Given the description of an element on the screen output the (x, y) to click on. 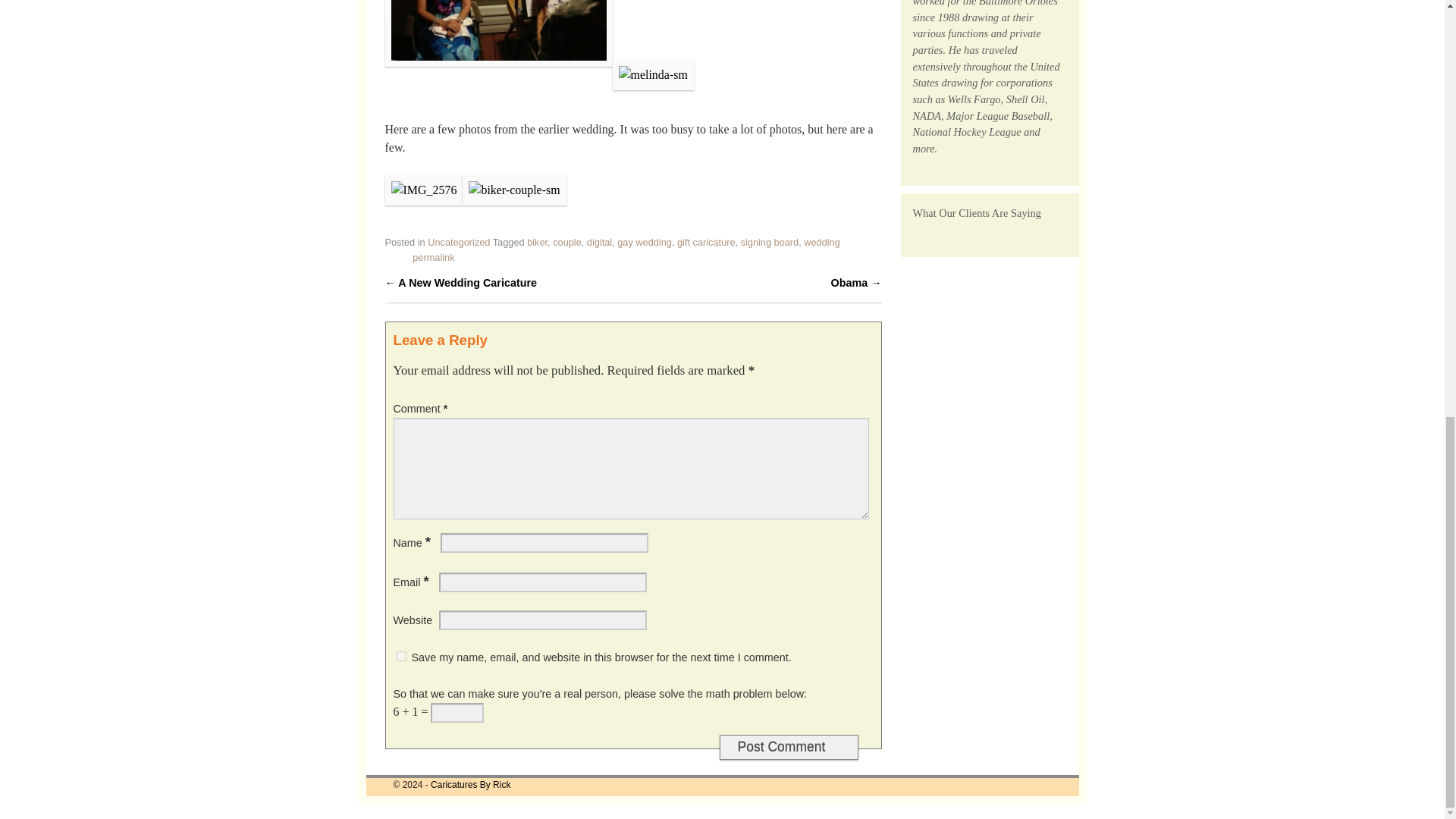
Permalink to More Weddings (433, 256)
Post Comment (788, 747)
Caricatures By Rick (470, 784)
yes (401, 655)
